Given the description of an element on the screen output the (x, y) to click on. 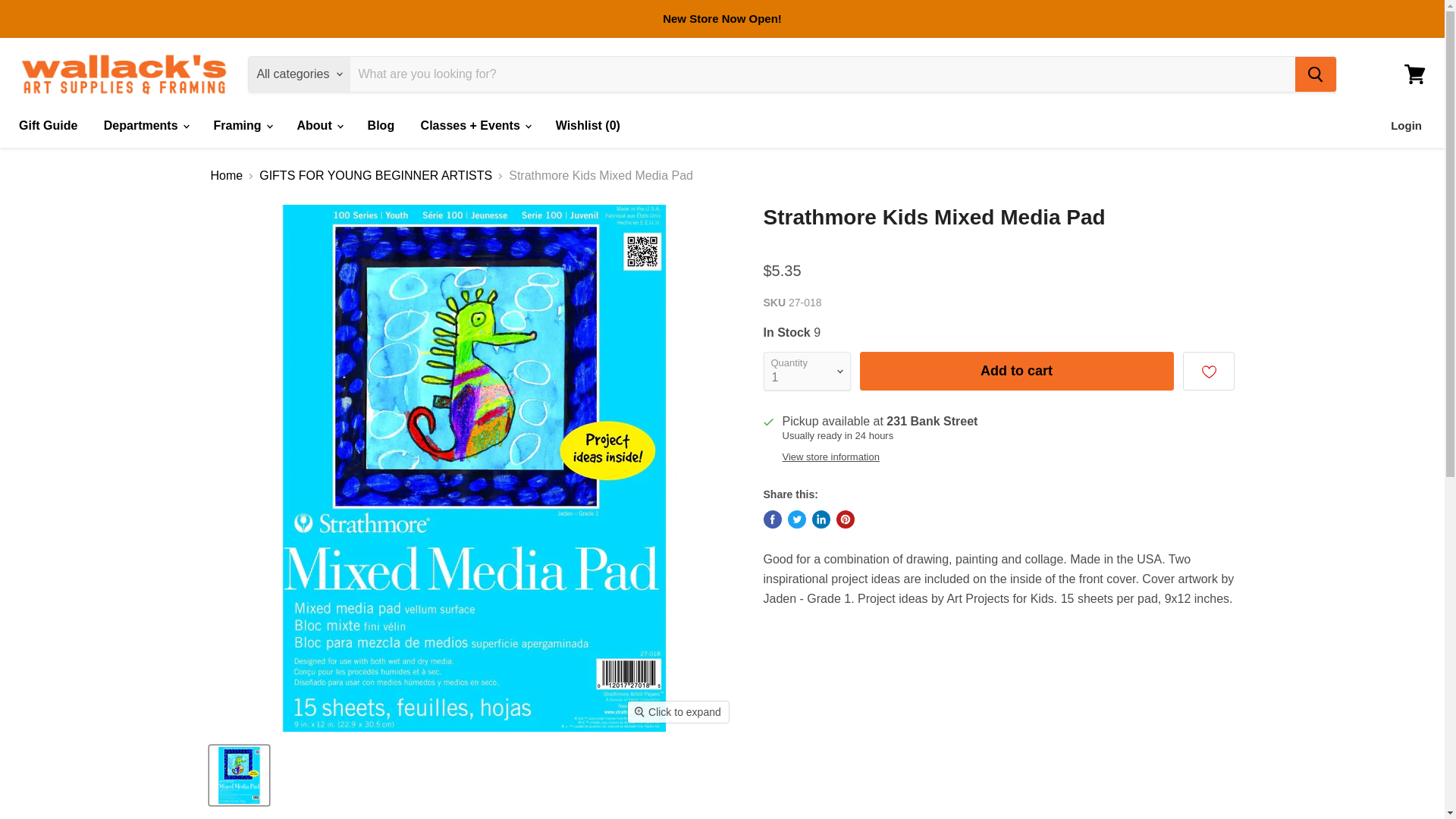
Departments (145, 125)
Gift Guide (47, 125)
View cart (1414, 73)
